Given the description of an element on the screen output the (x, y) to click on. 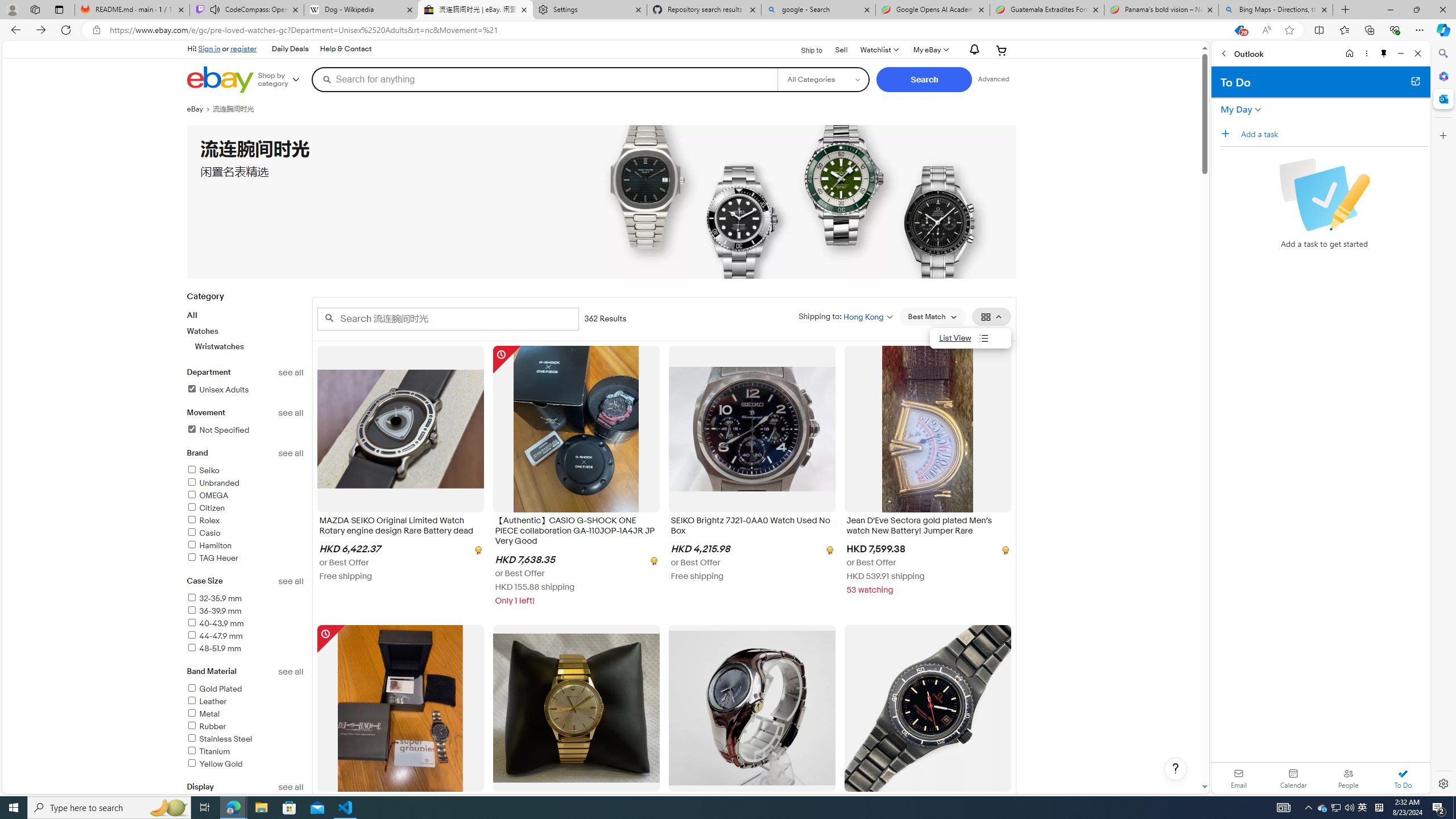
Seiko (202, 470)
Hamilton (208, 545)
eBay Home (219, 79)
Titanium (245, 751)
48-51.9 mm (213, 648)
Hamilton (245, 546)
More options (1366, 53)
WatchesWristwatches (245, 338)
48-51.9 mm (245, 648)
Checkbox with a pencil (1324, 194)
Casio (203, 533)
32-35.9 mm (245, 598)
